Given the description of an element on the screen output the (x, y) to click on. 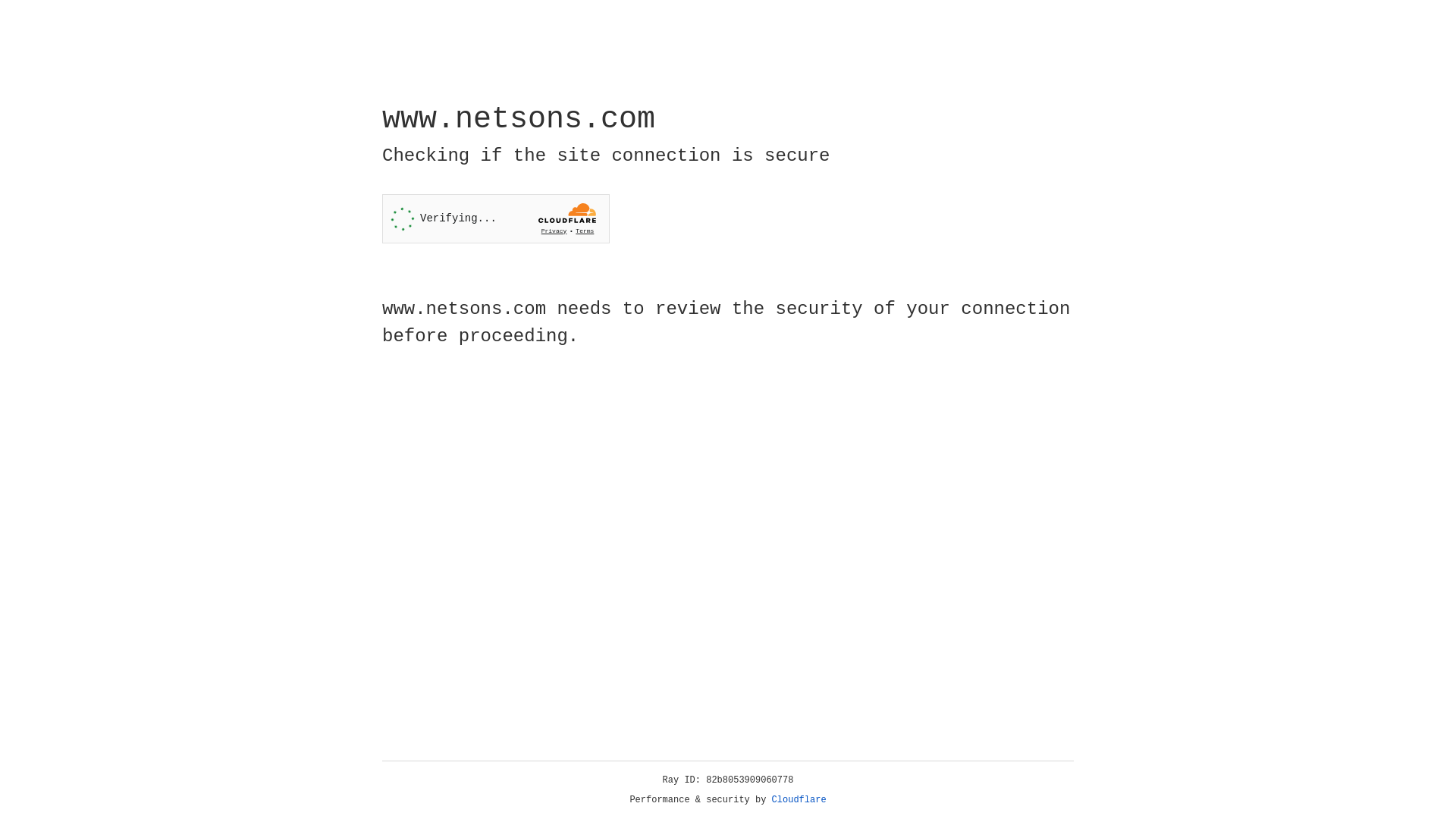
Widget containing a Cloudflare security challenge Element type: hover (495, 218)
Cloudflare Element type: text (798, 799)
